Given the description of an element on the screen output the (x, y) to click on. 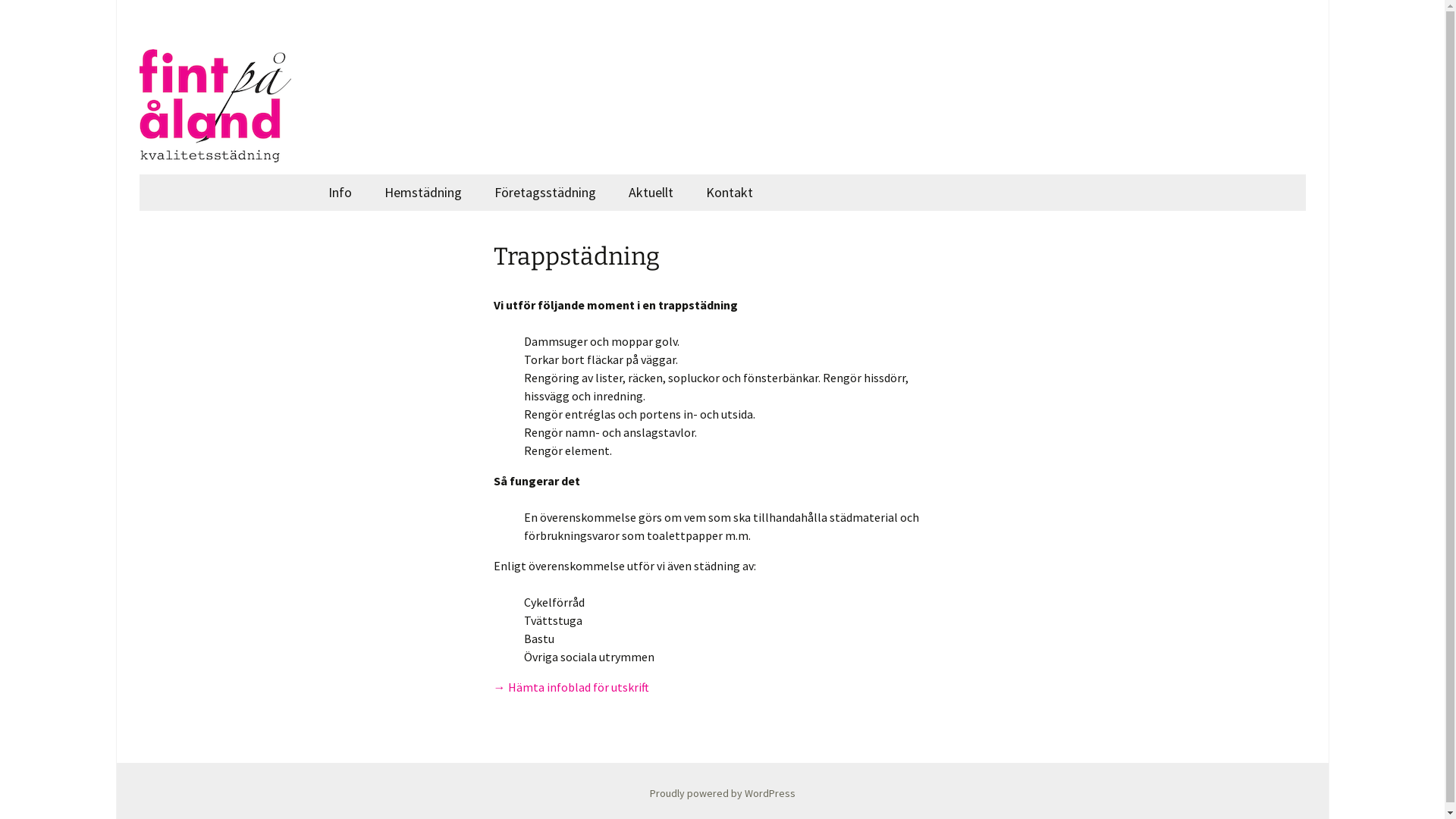
Info Element type: text (339, 192)
Aktuellt Element type: text (649, 192)
Kontakt Element type: text (728, 192)
Skip to content Element type: text (312, 174)
Proudly powered by WordPress Element type: text (721, 793)
